Given the description of an element on the screen output the (x, y) to click on. 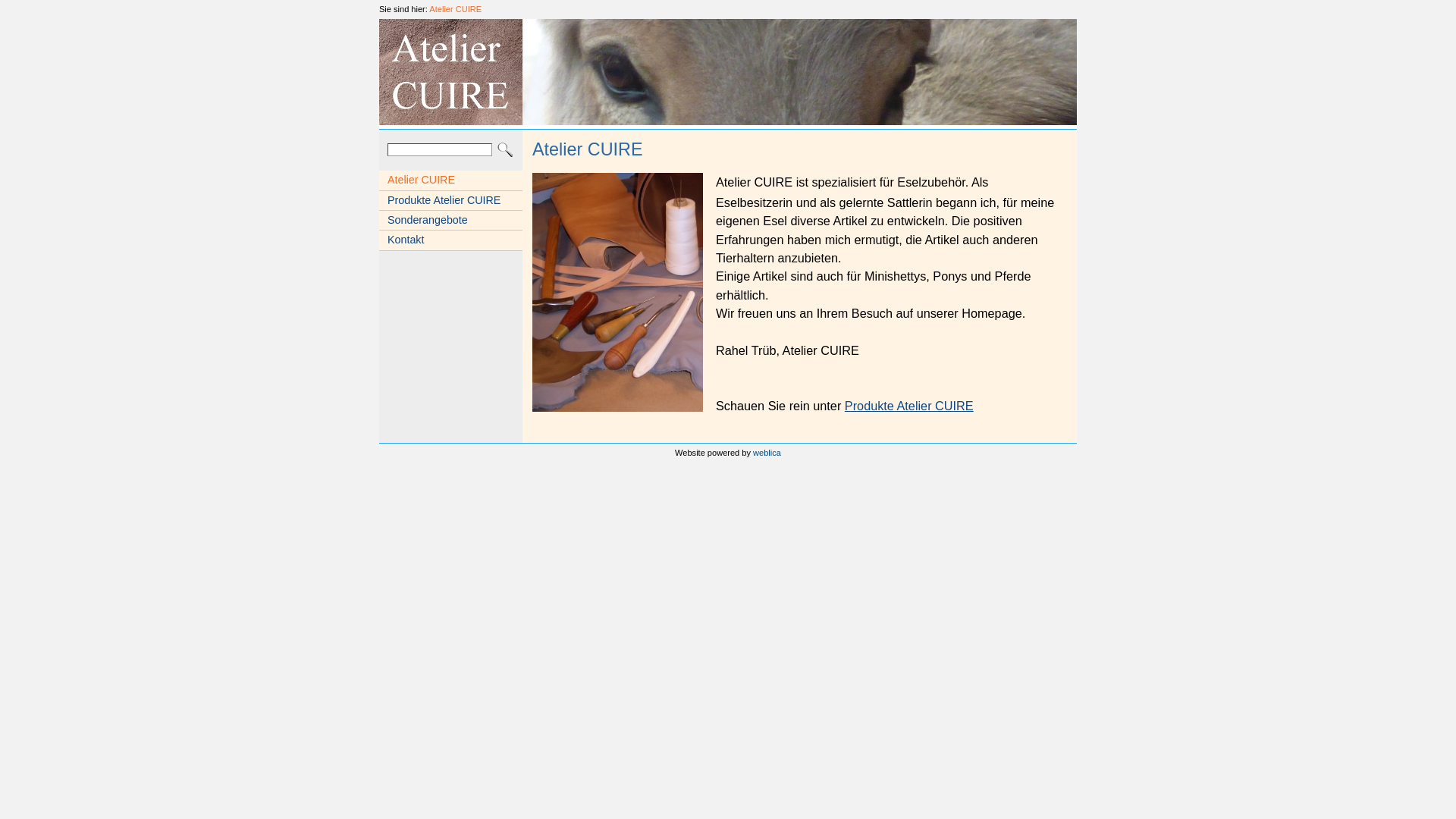
Produkte Atelier CUIRE Element type: text (450, 200)
Sonderangebote Element type: text (450, 219)
Produkte Atelier CUIRE Element type: text (908, 405)
weblica Element type: text (767, 452)
Werkzeug Atelier Cuire.jpg Element type: hover (617, 291)
Panorama Element type: hover (799, 71)
Kontakt Element type: text (450, 239)
Logo Homepage CUIRE Element type: hover (450, 71)
Atelier CUIRE Element type: text (450, 179)
Atelier CUIRE Element type: text (455, 8)
